Given the description of an element on the screen output the (x, y) to click on. 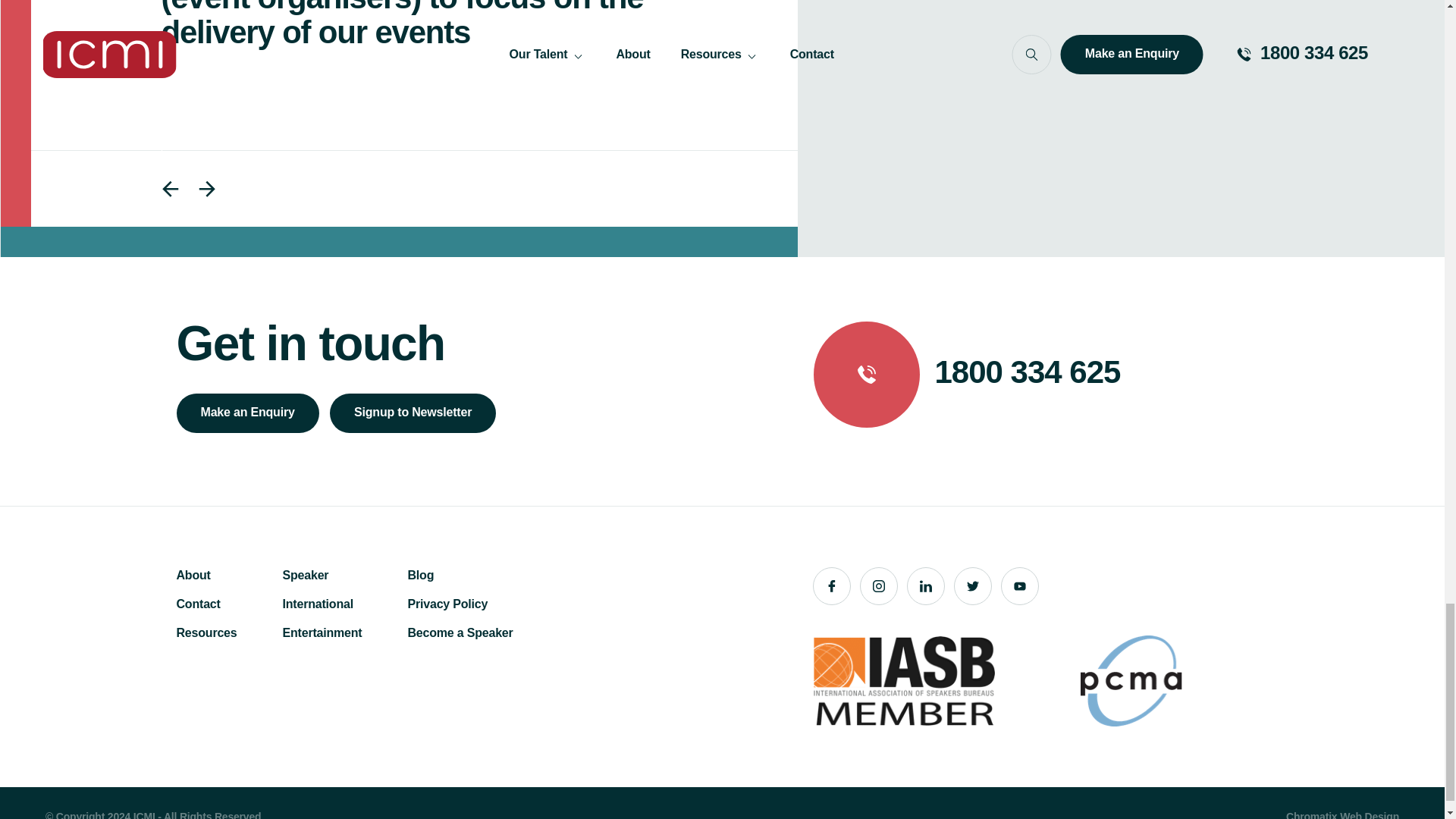
PCMA Logo (1132, 680)
IASB Logo (903, 680)
